Given the description of an element on the screen output the (x, y) to click on. 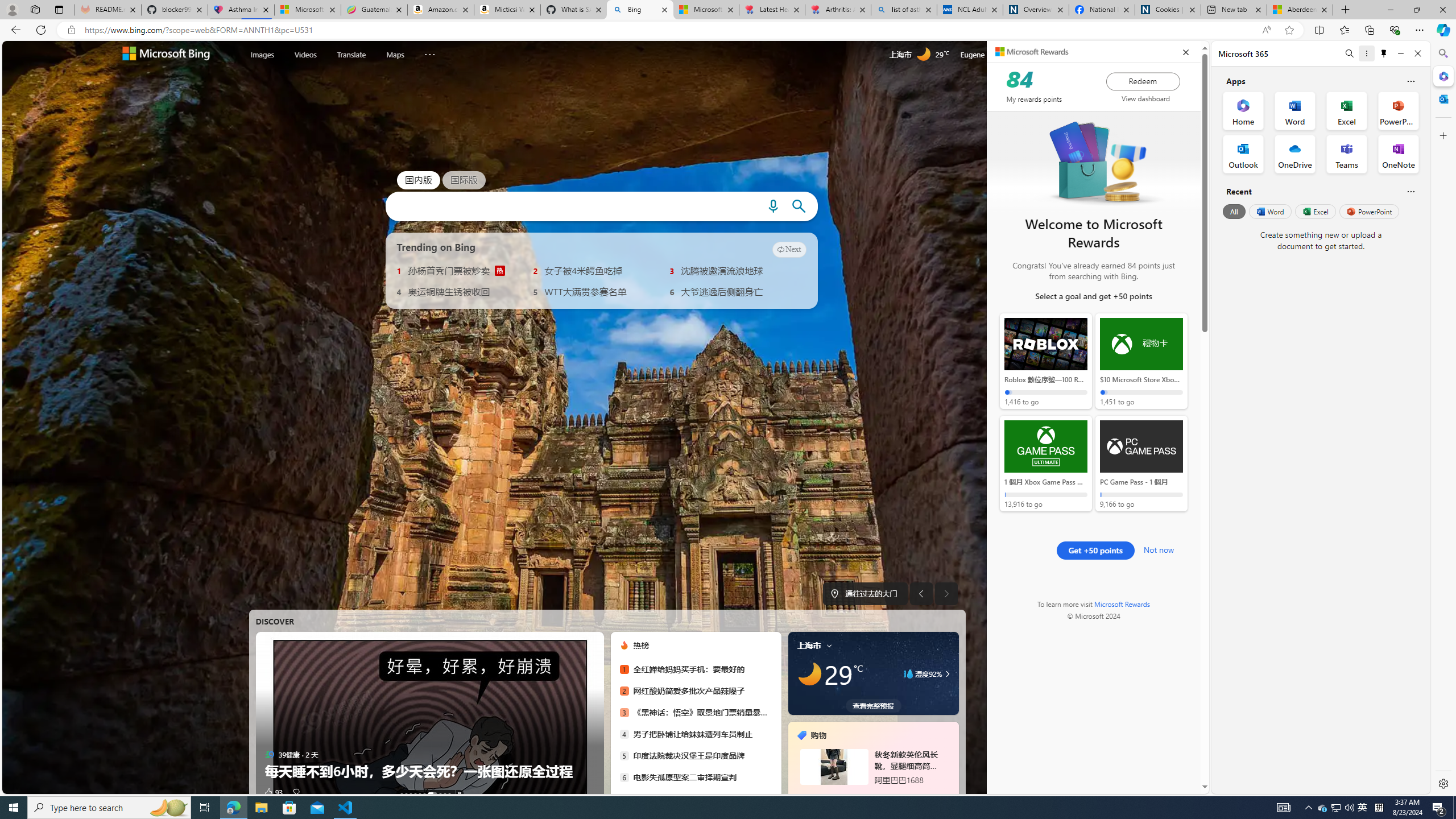
Images (261, 54)
Class: weather-arrow-glyph (946, 673)
AutomationID: tab-6 (432, 793)
AutomationID: tab-9 (448, 793)
AutomationID: tab-1 (405, 793)
Settings and quick links (1065, 54)
Cookies | About | NICE (1167, 9)
tab-0 (856, 795)
